Given the description of an element on the screen output the (x, y) to click on. 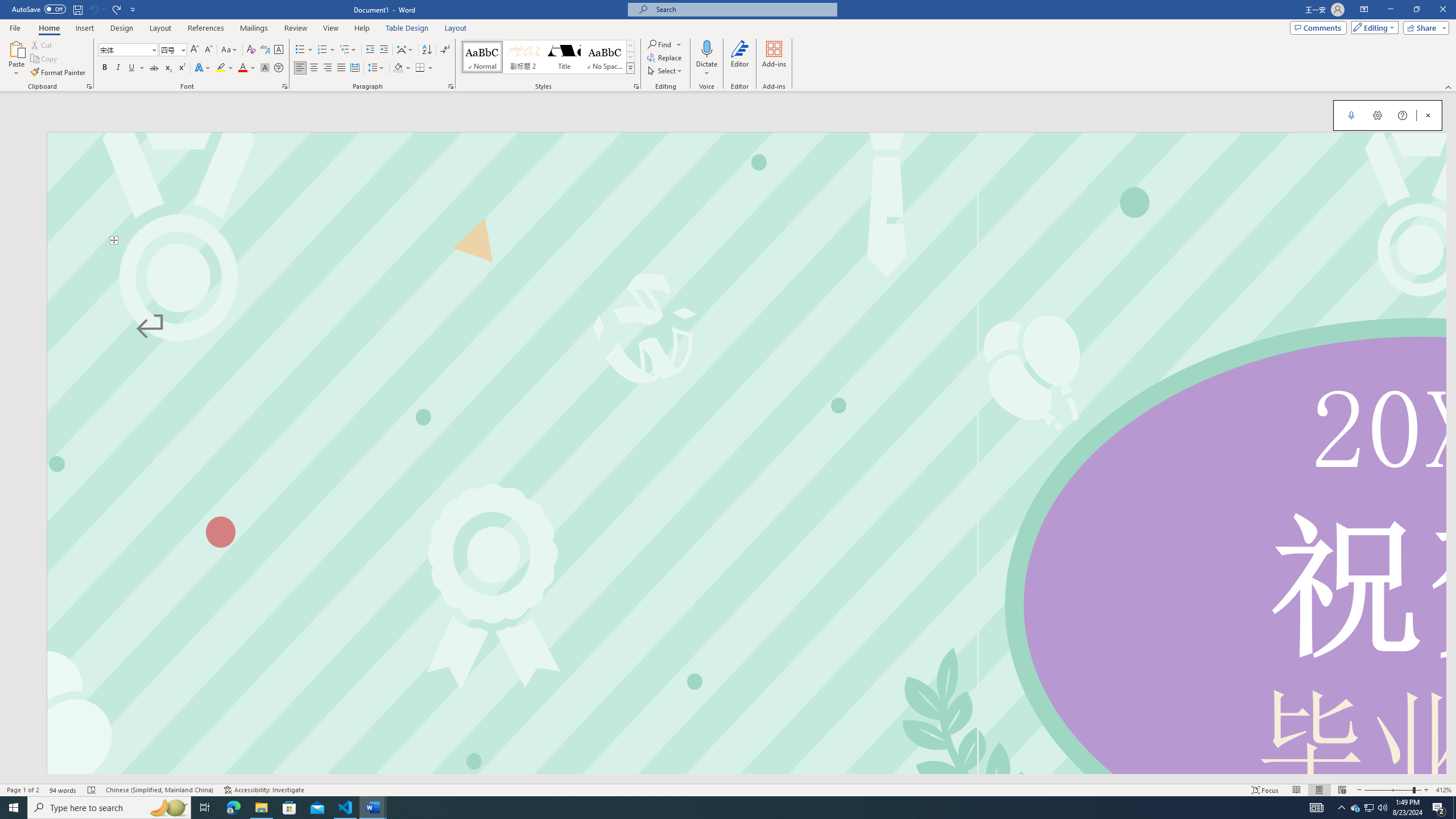
Row Down (630, 56)
Dictate (706, 48)
Help (1401, 115)
Justify (340, 67)
Find (660, 44)
Increase Indent (383, 49)
Styles (630, 67)
Paste (16, 58)
Format Painter (58, 72)
AutomationID: QuickStylesGallery (548, 56)
Title (564, 56)
Shading RGB(0, 0, 0) (397, 67)
Decrease Indent (370, 49)
Font Color (246, 67)
